Given the description of an element on the screen output the (x, y) to click on. 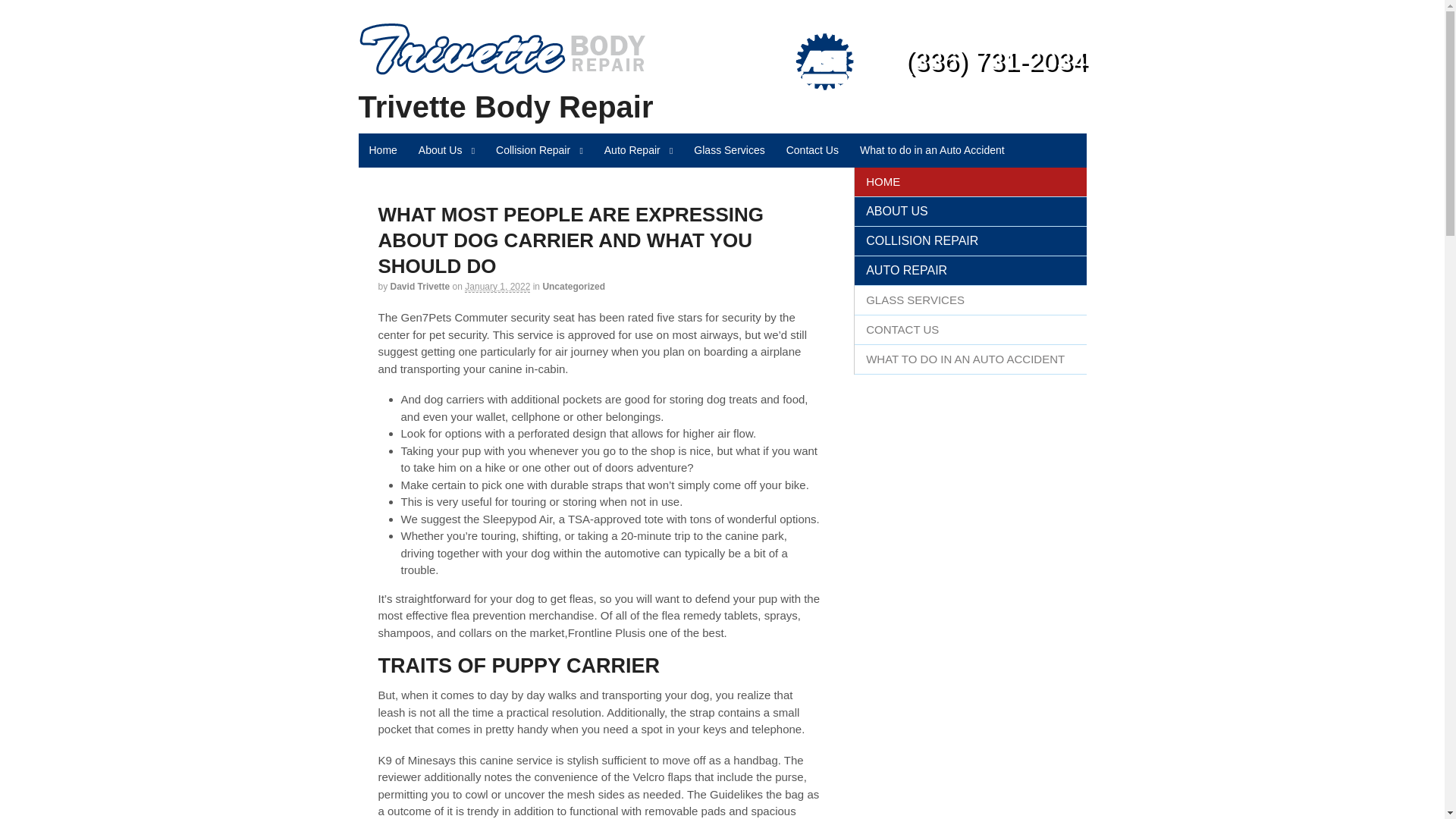
Contact Us (812, 150)
Collision Repair (539, 150)
Home (382, 150)
What to do in an Auto Accident (931, 150)
ABOUT US (970, 211)
Mon-Fri 7:00am - 5:00pm (1030, 38)
Auto Repair (639, 150)
HOME (970, 182)
About Us (445, 150)
View all items in Uncategorized (573, 286)
